Given the description of an element on the screen output the (x, y) to click on. 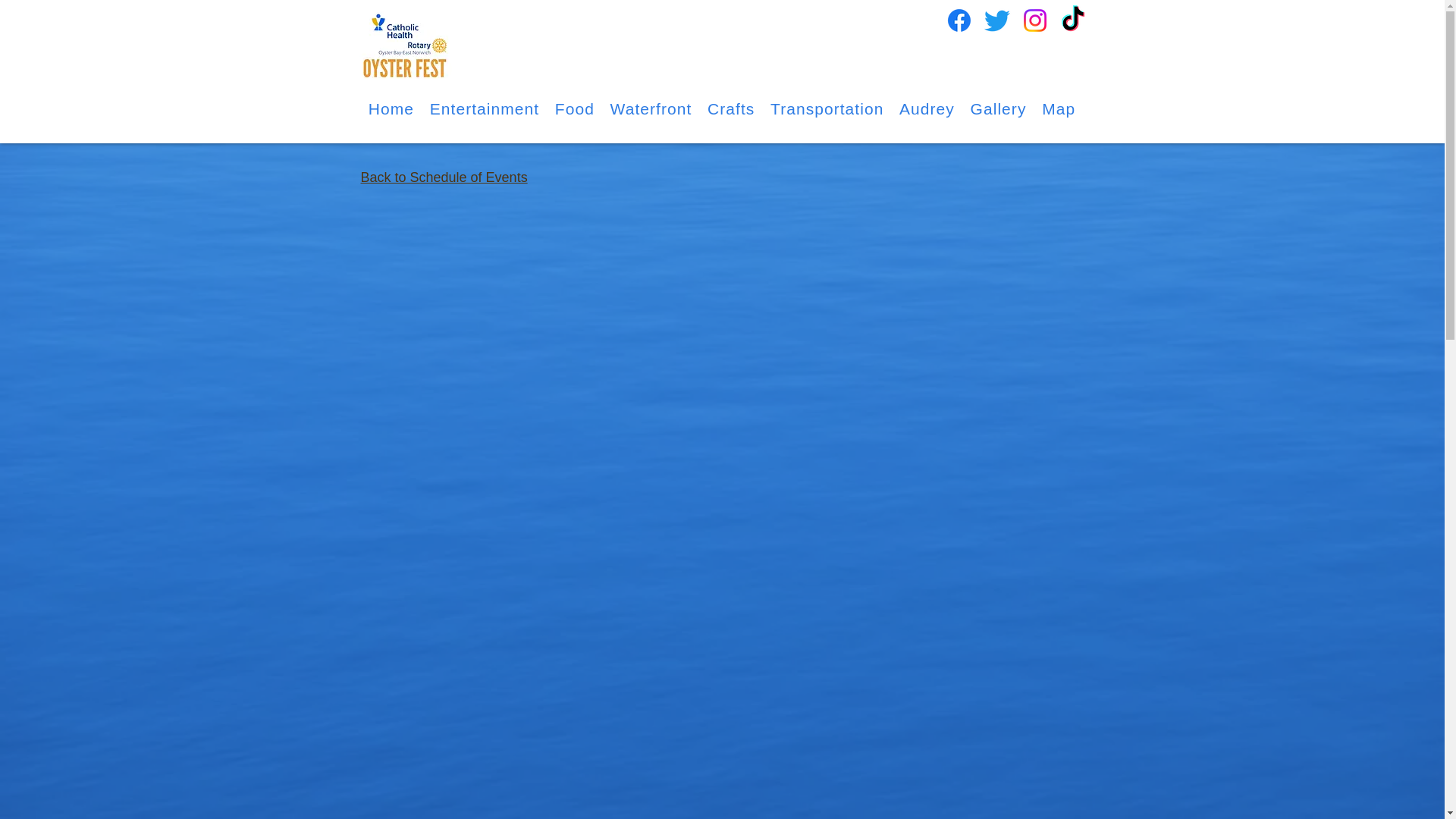
Food (574, 109)
Waterfront (650, 109)
Entertainment (484, 109)
Crafts (731, 109)
Gallery (997, 109)
Transportation (826, 109)
Home (391, 109)
Map (1058, 109)
Back to Schedule of Events (444, 177)
Audrey (926, 109)
